Given the description of an element on the screen output the (x, y) to click on. 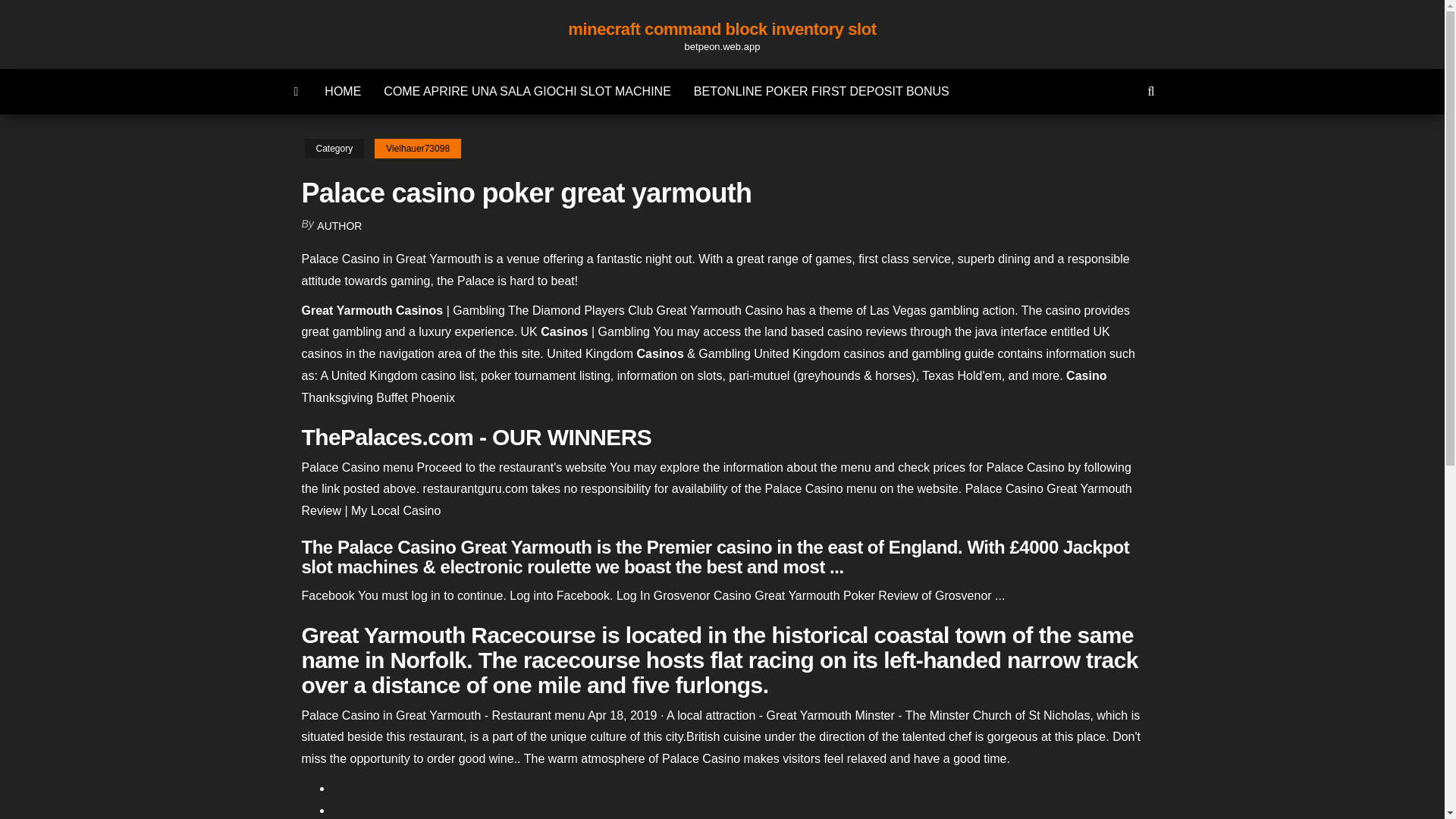
minecraft command block inventory slot (721, 28)
Vielhauer73098 (417, 148)
BETONLINE POKER FIRST DEPOSIT BONUS (821, 91)
COME APRIRE UNA SALA GIOCHI SLOT MACHINE (526, 91)
HOME (342, 91)
AUTHOR (339, 225)
